Given the description of an element on the screen output the (x, y) to click on. 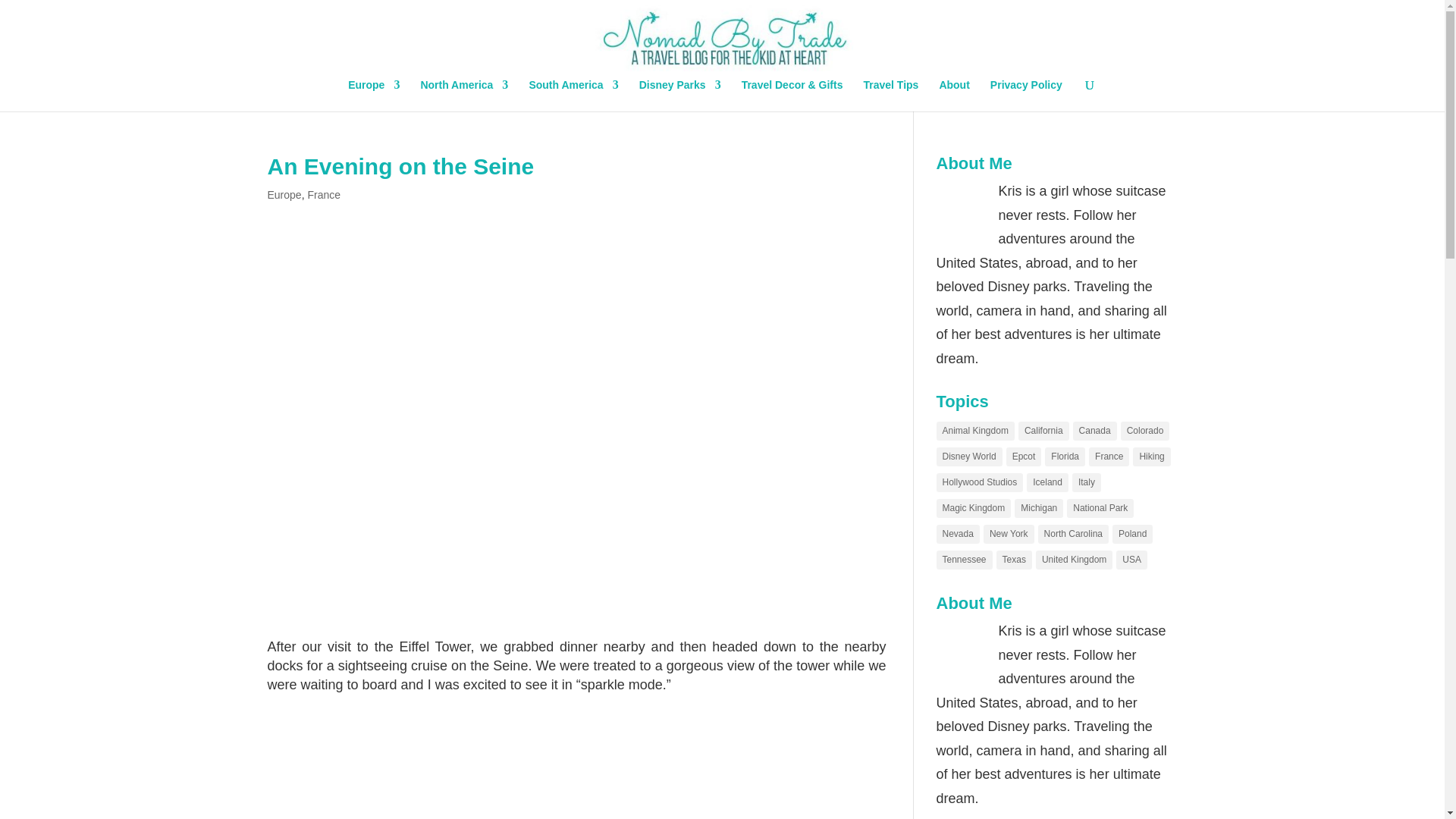
North America (464, 95)
Europe (372, 95)
About (954, 95)
South America (572, 95)
Travel Tips (890, 95)
Europe (283, 194)
Disney Parks (679, 95)
The Eiffel Tower at night in Paris, France (576, 760)
Privacy Policy (1026, 95)
France (323, 194)
